Given the description of an element on the screen output the (x, y) to click on. 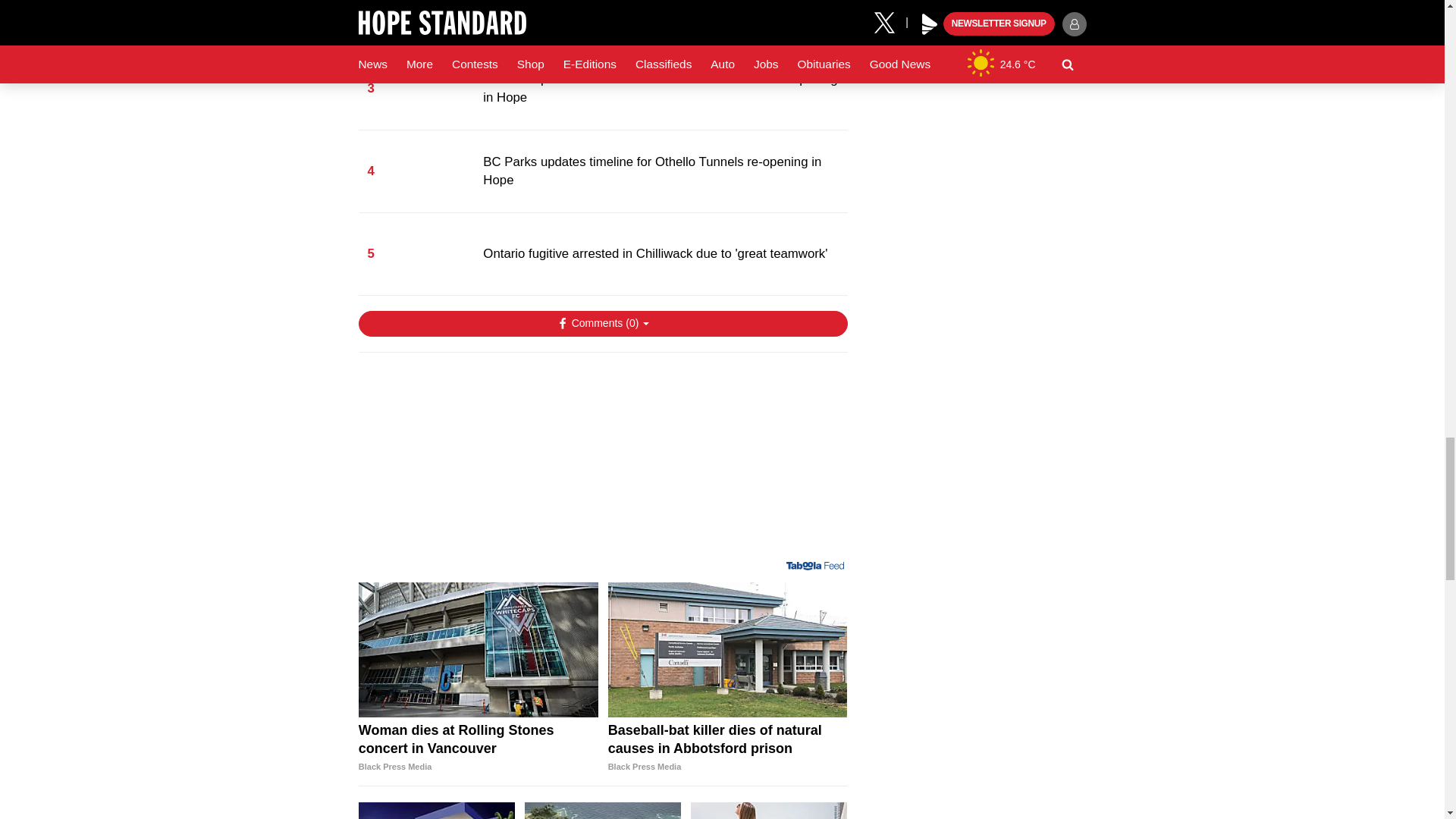
3rd party ad content (602, 462)
Show Comments (602, 323)
